Given the description of an element on the screen output the (x, y) to click on. 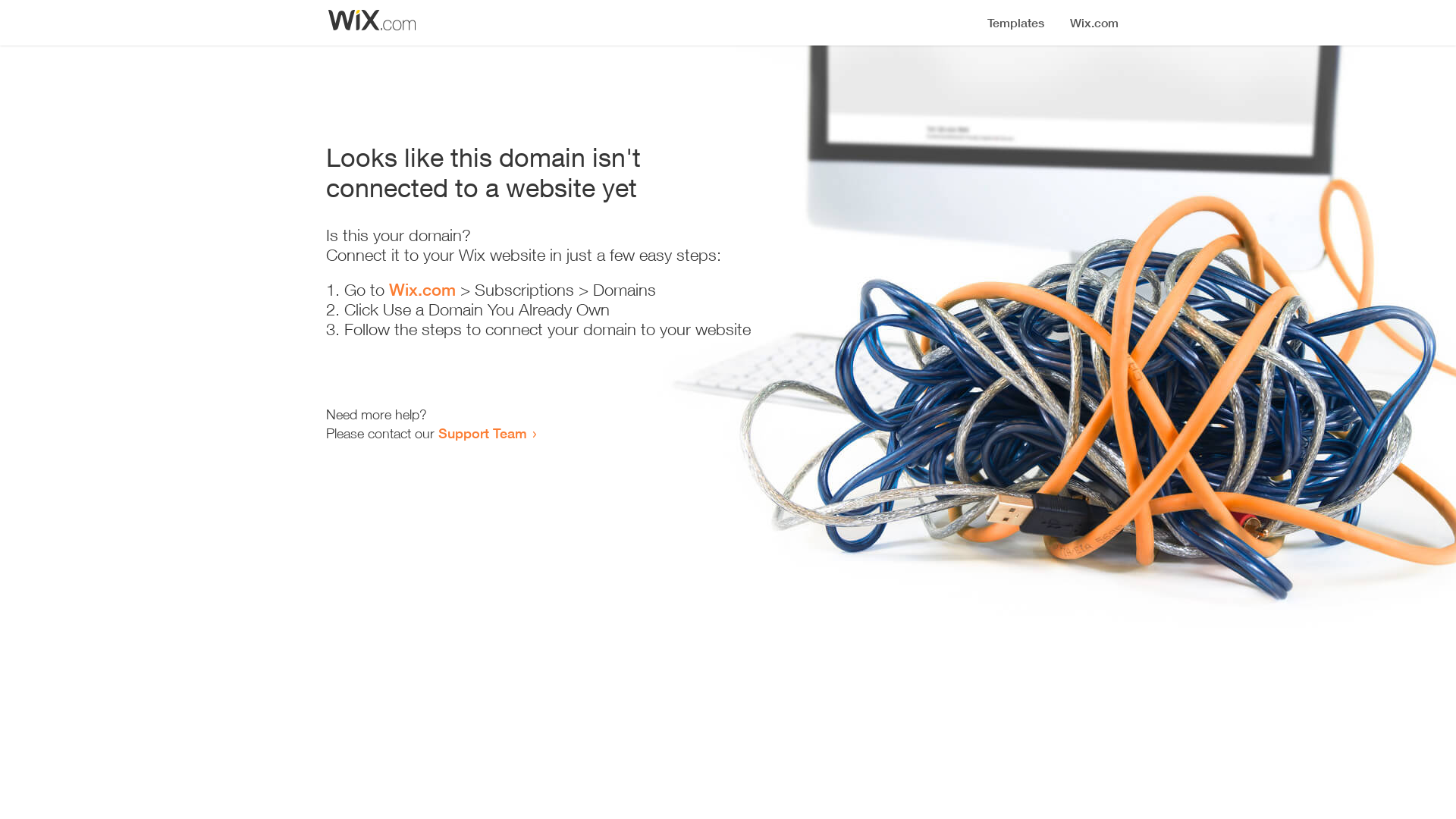
Wix.com Element type: text (422, 289)
Support Team Element type: text (482, 432)
